Given the description of an element on the screen output the (x, y) to click on. 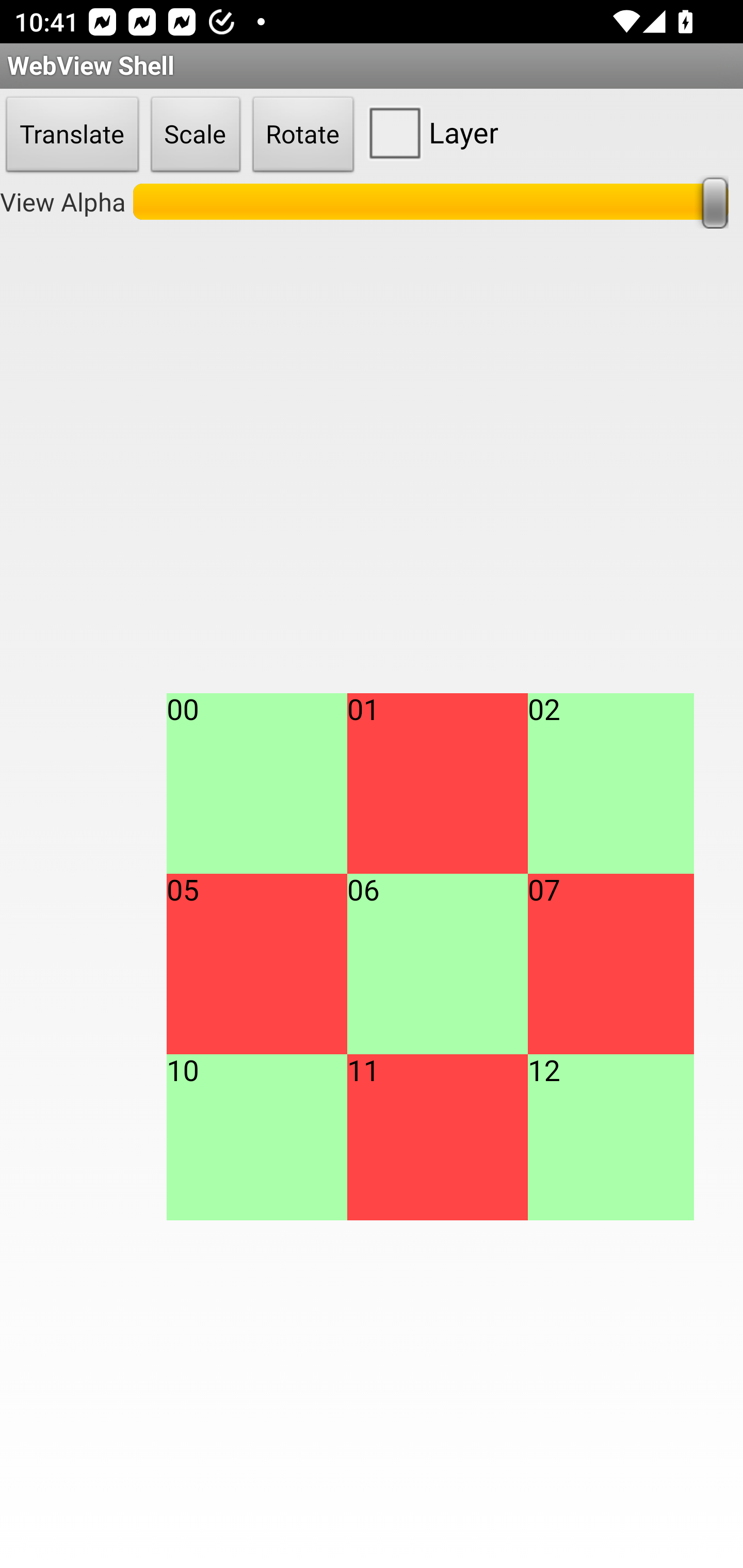
Layer (429, 132)
Translate (72, 135)
Scale (195, 135)
Rotate (303, 135)
